Given the description of an element on the screen output the (x, y) to click on. 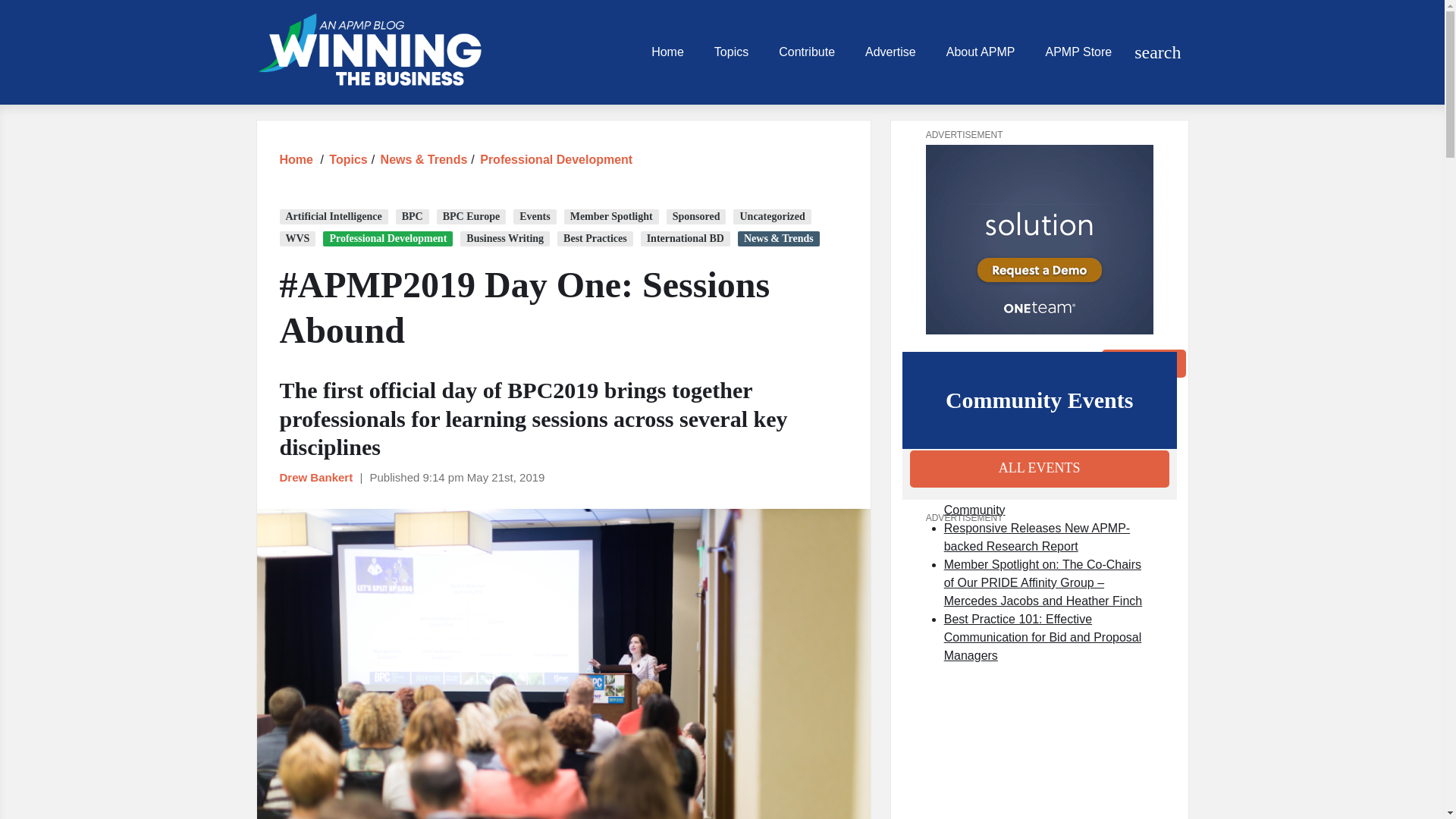
About APMP (981, 52)
Winning the Business (369, 52)
Home (296, 159)
Topics (347, 159)
BPC (412, 216)
Professional Development (555, 159)
Artificial Intelligence (333, 216)
BPC Europe (471, 216)
Professional Development (555, 159)
Search (1144, 362)
